Given the description of an element on the screen output the (x, y) to click on. 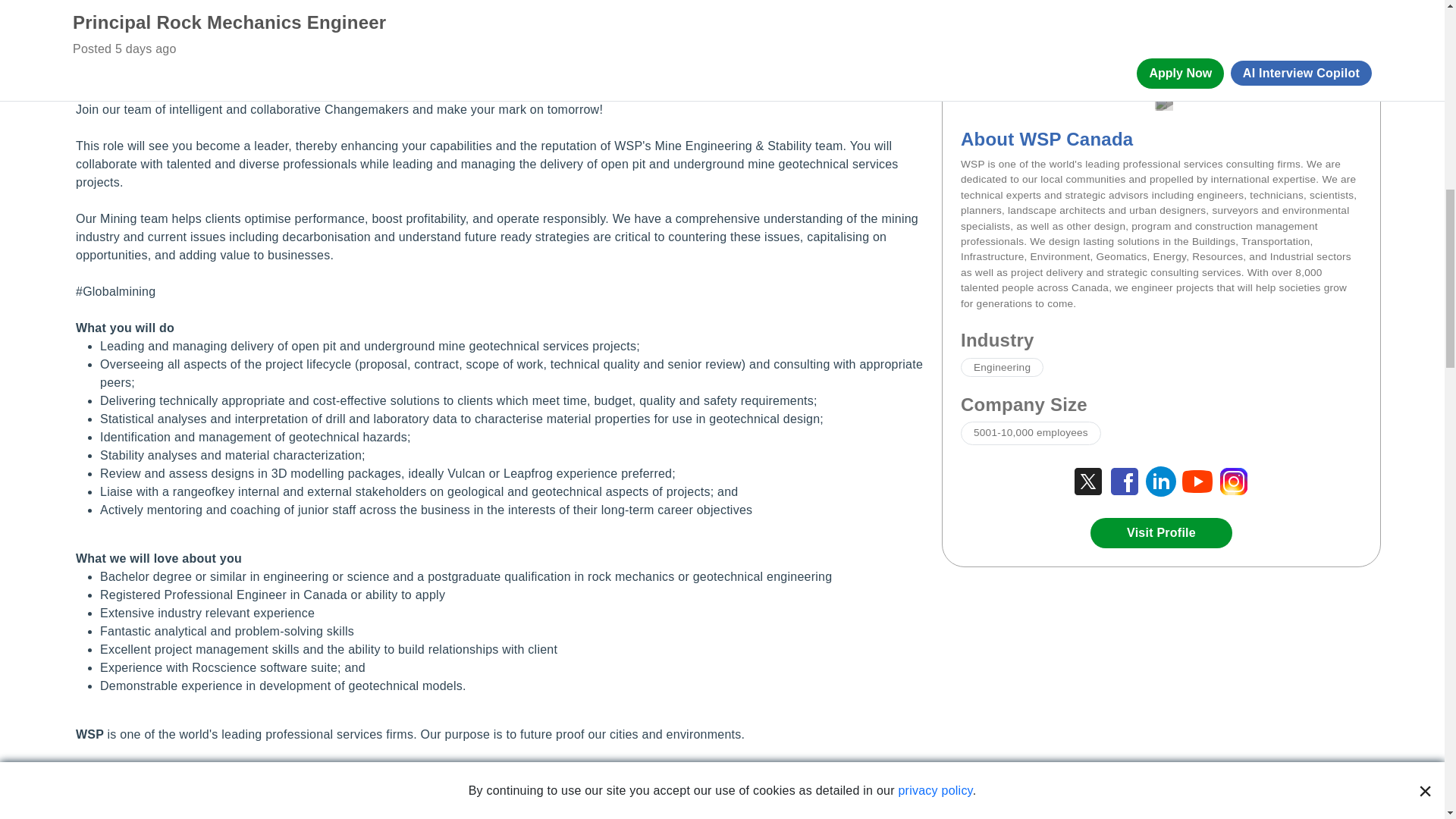
Visit Profile (1160, 532)
